Given the description of an element on the screen output the (x, y) to click on. 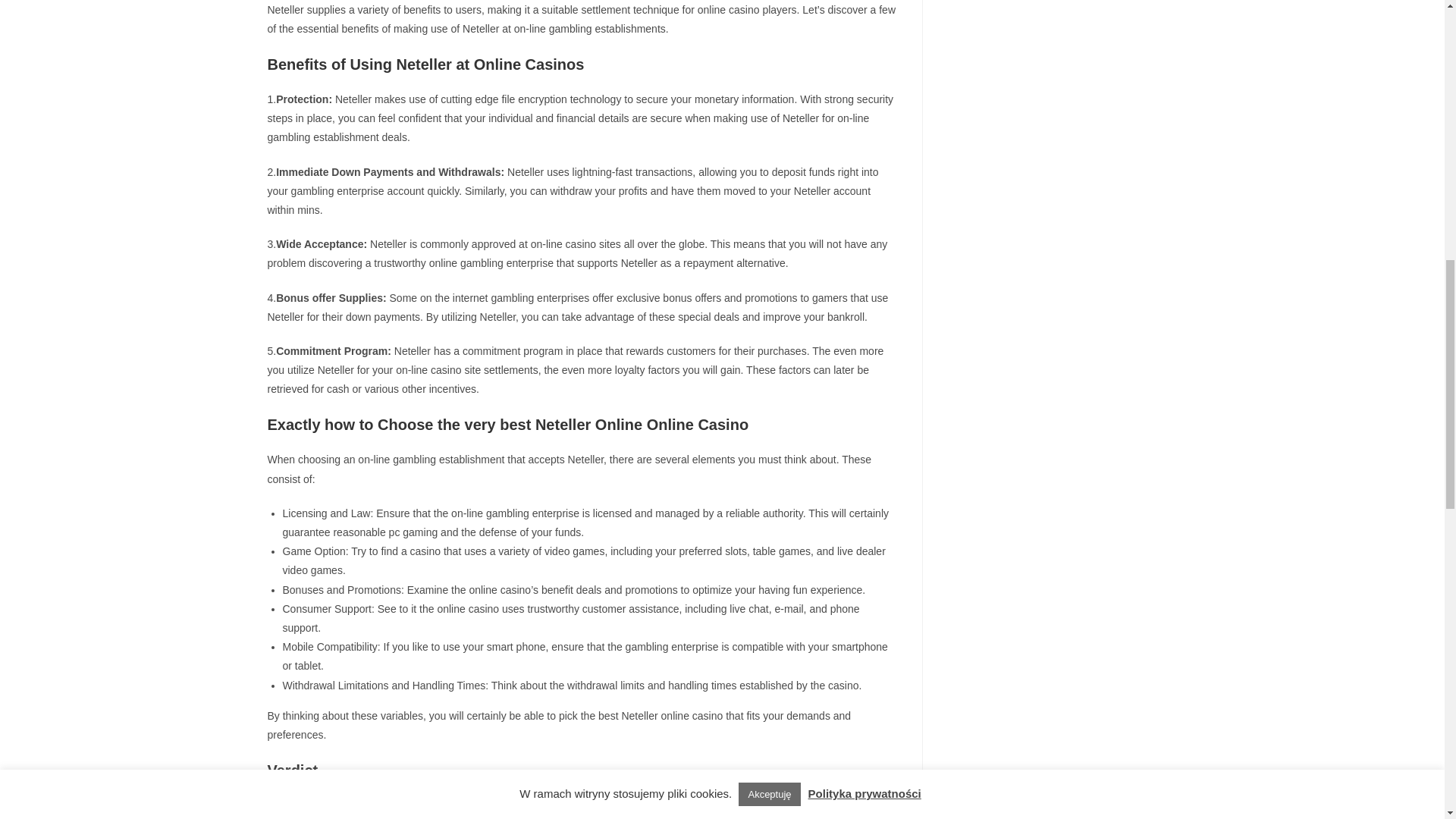
Beste paypal wettanbieter (590, 805)
